Given the description of an element on the screen output the (x, y) to click on. 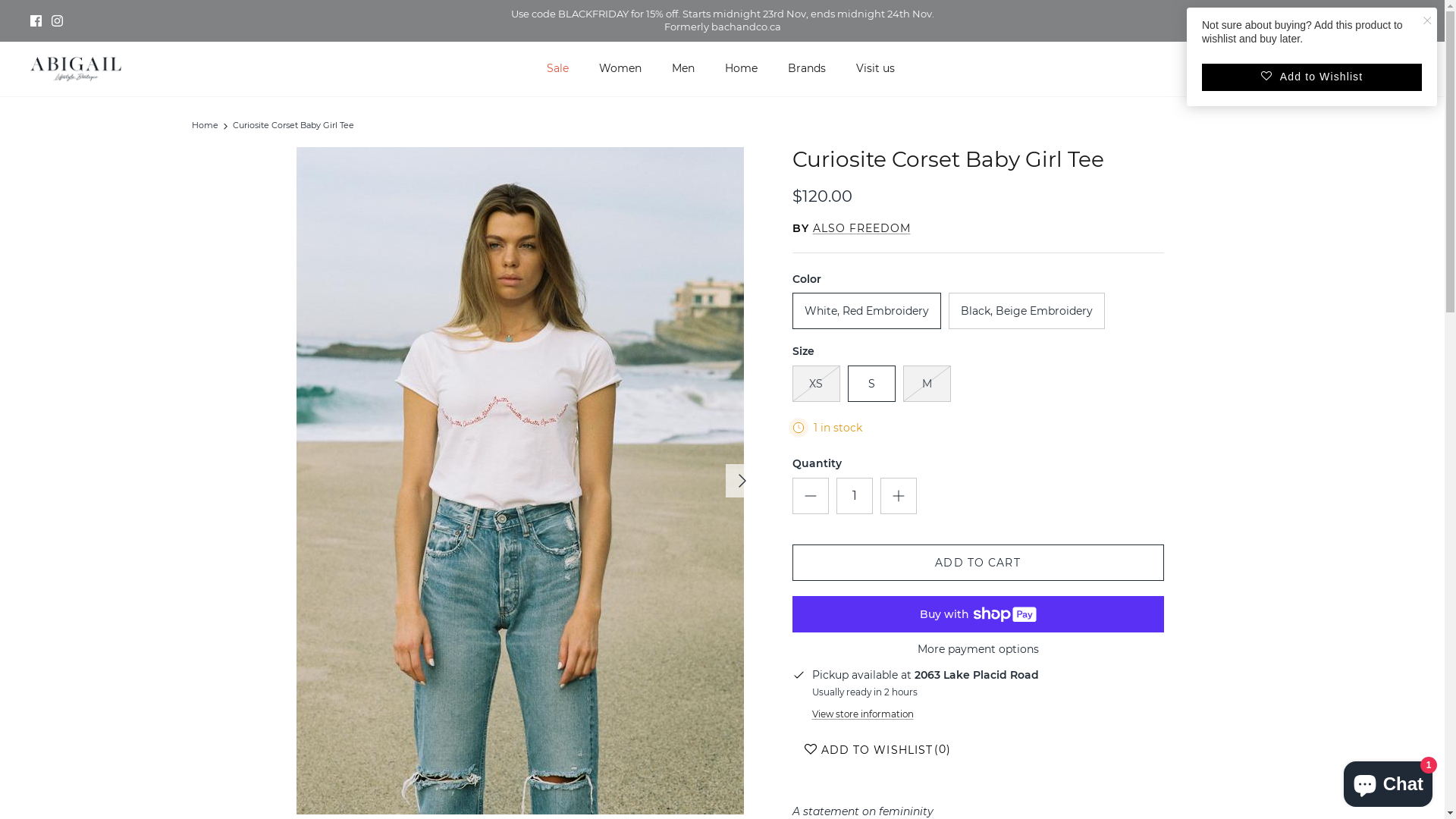
ALSO FREEDOM Element type: text (861, 228)
Brands Element type: text (805, 68)
Home Element type: text (741, 68)
Plus Element type: text (897, 495)
ADD TO CART Element type: text (977, 562)
Sale Element type: text (556, 68)
Cart Element type: text (1356, 68)
Women Element type: text (620, 68)
ABIGAIL Lifestyle Boutique Element type: hover (75, 68)
More payment options Element type: text (977, 649)
Home Element type: text (204, 125)
Men Element type: text (683, 68)
Add to Wishlist Element type: text (1311, 77)
Facebook Element type: text (35, 20)
Canada (CAD $)
Down Element type: text (1373, 20)
Search Element type: text (1295, 68)
Shopify online store chat Element type: hover (1388, 780)
ADD TO WISHLIST Element type: text (865, 749)
Minus Element type: text (809, 495)
View store information Element type: text (862, 713)
Visit us Element type: text (874, 68)
RIGHT Element type: text (741, 480)
Curiosite Corset Baby Girl Tee Element type: text (293, 125)
Instagram Element type: text (56, 20)
